Given the description of an element on the screen output the (x, y) to click on. 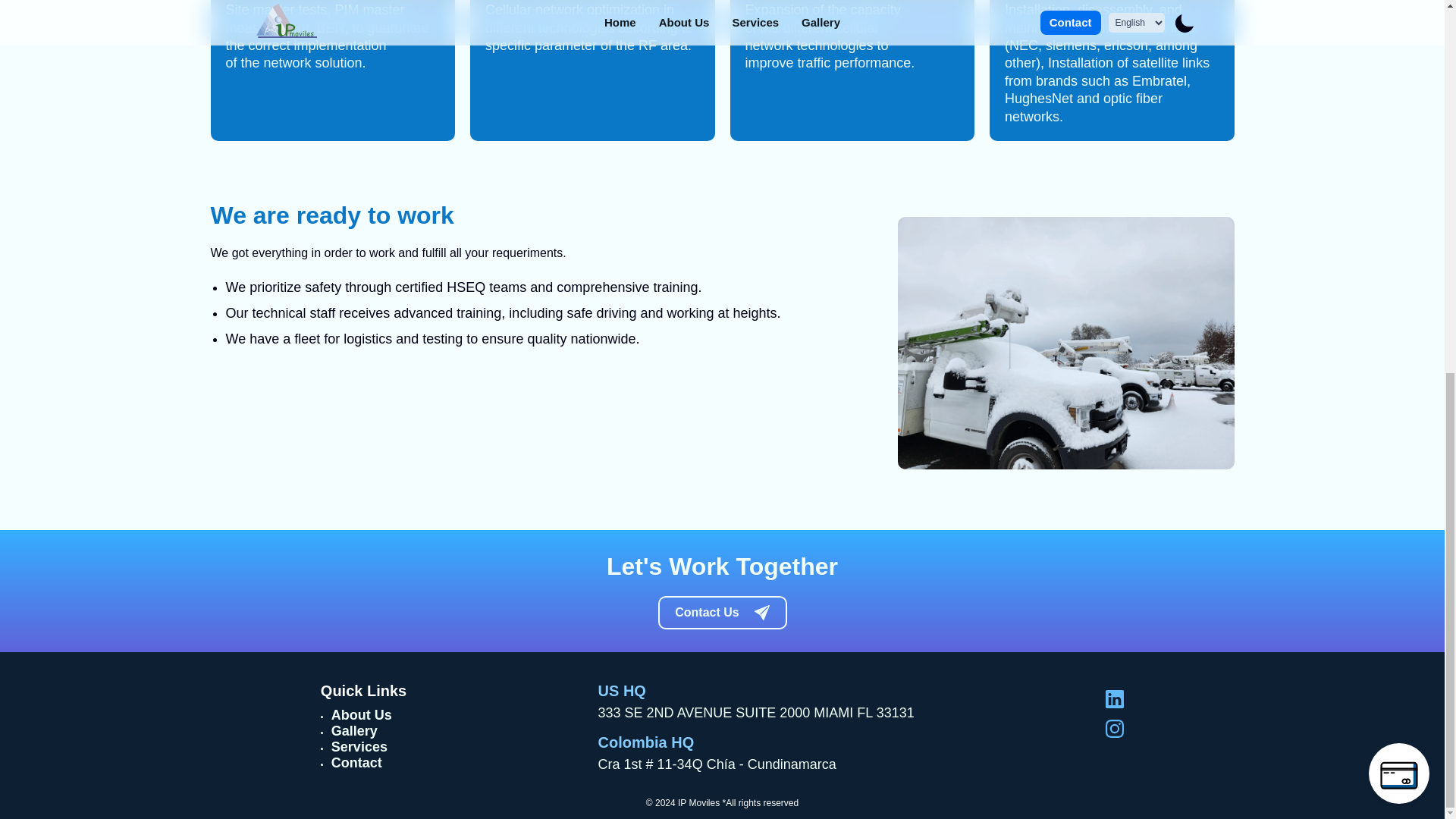
Contact Us (722, 612)
Services (359, 746)
Contact (356, 762)
Gallery (354, 730)
About Us (361, 714)
